Given the description of an element on the screen output the (x, y) to click on. 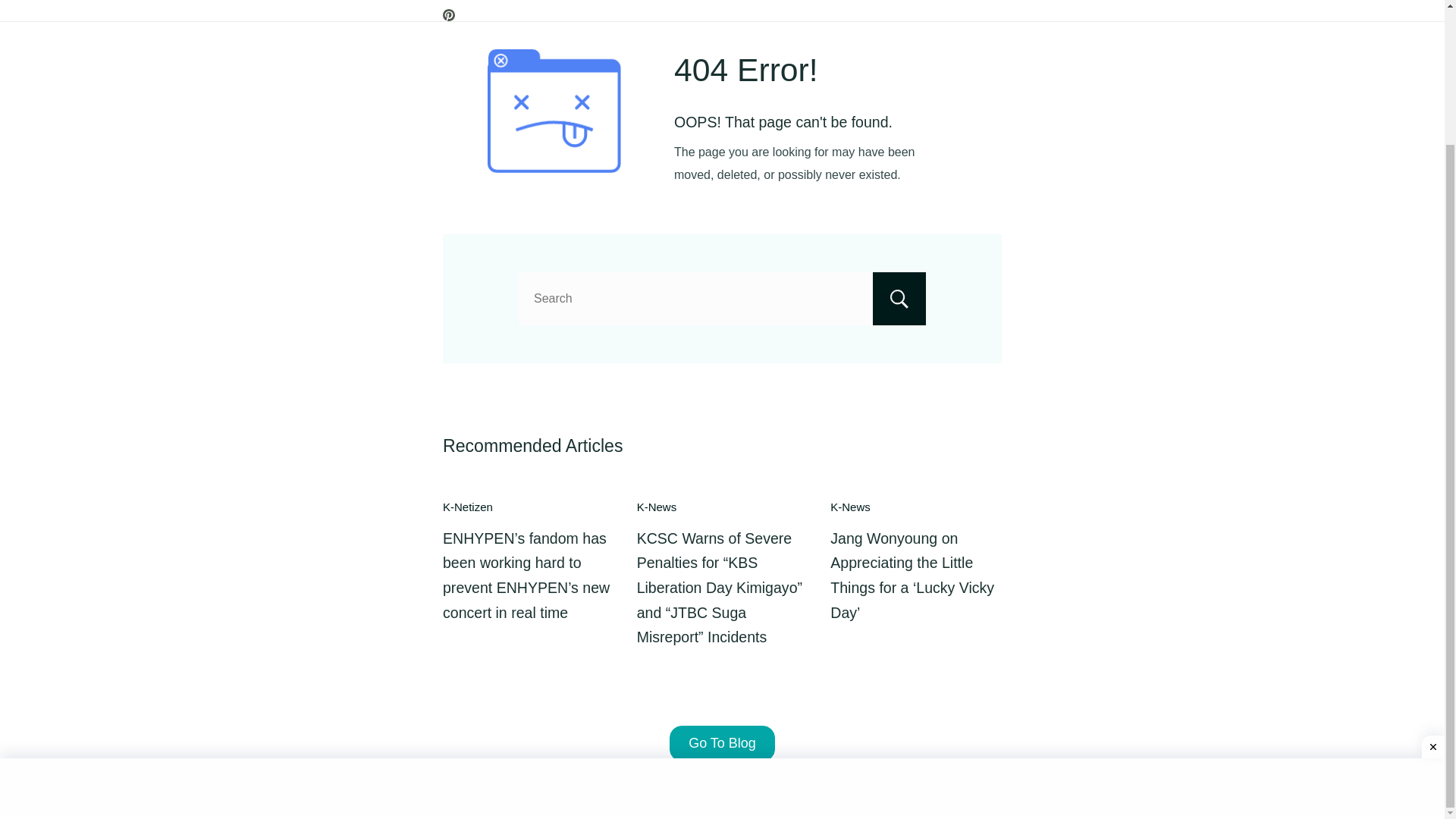
Search (899, 298)
Search Input (722, 298)
Search (899, 298)
